Given the description of an element on the screen output the (x, y) to click on. 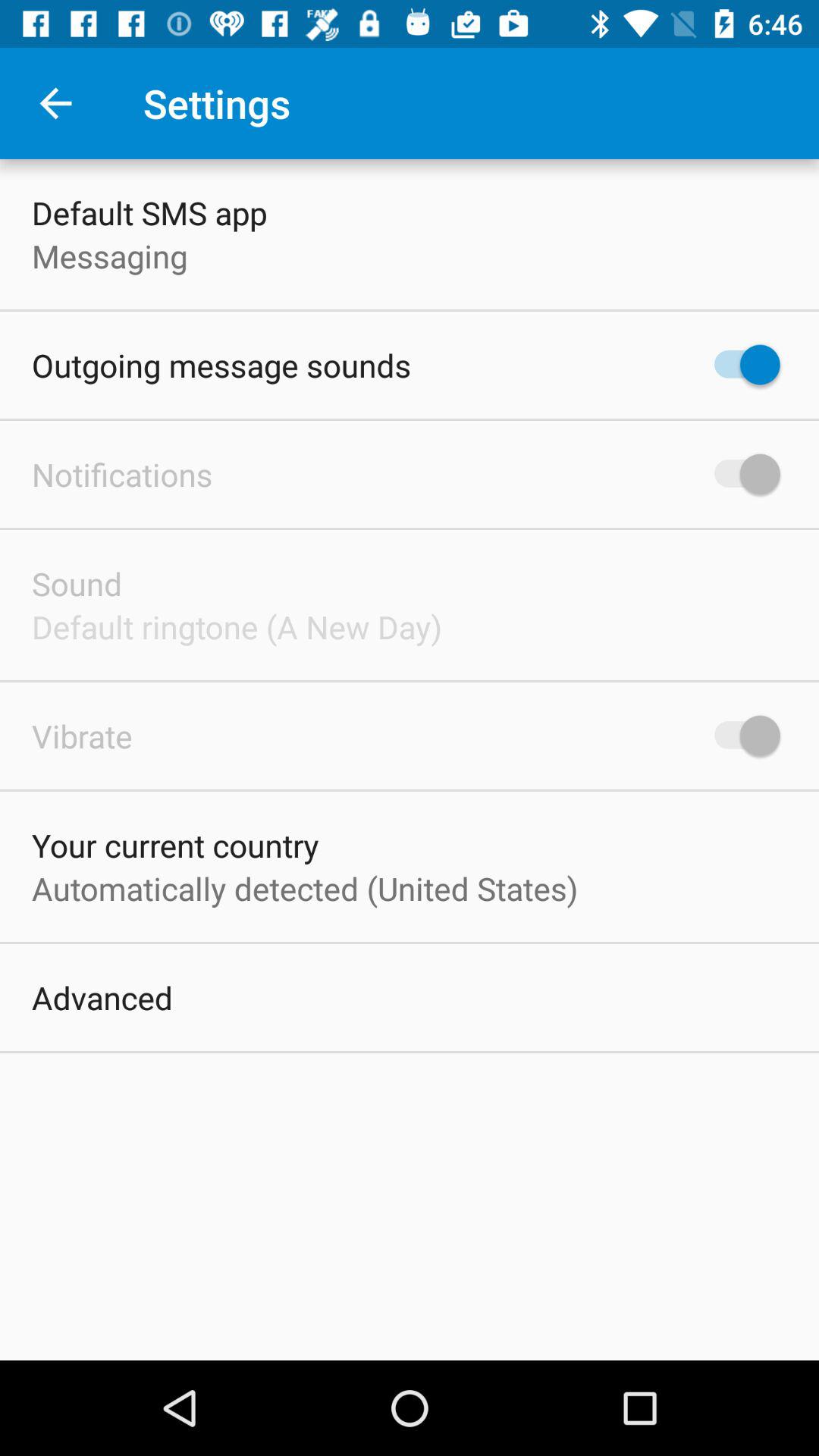
open the item below vibrate icon (175, 844)
